Given the description of an element on the screen output the (x, y) to click on. 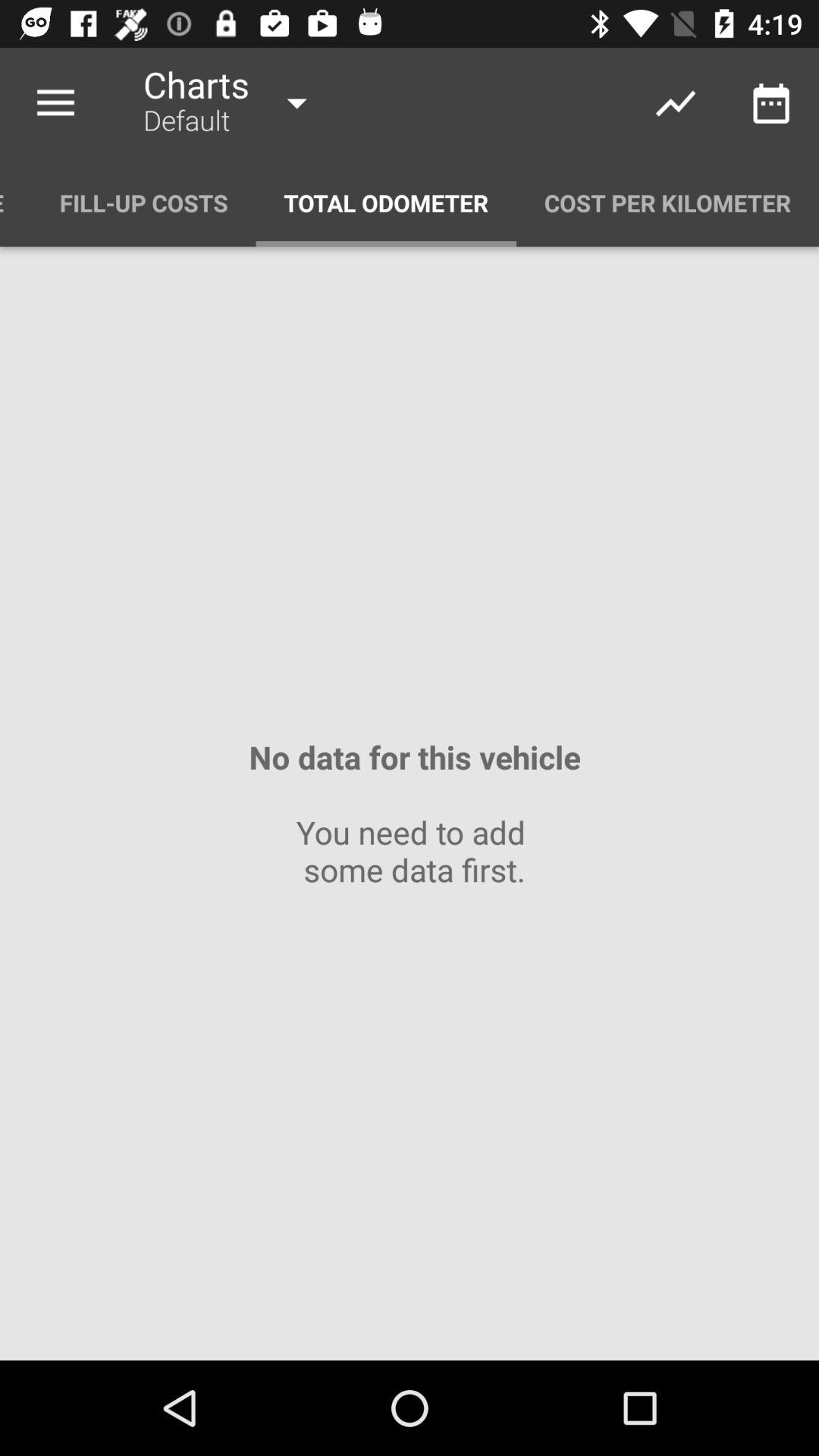
choose fill-up costs (143, 202)
